Given the description of an element on the screen output the (x, y) to click on. 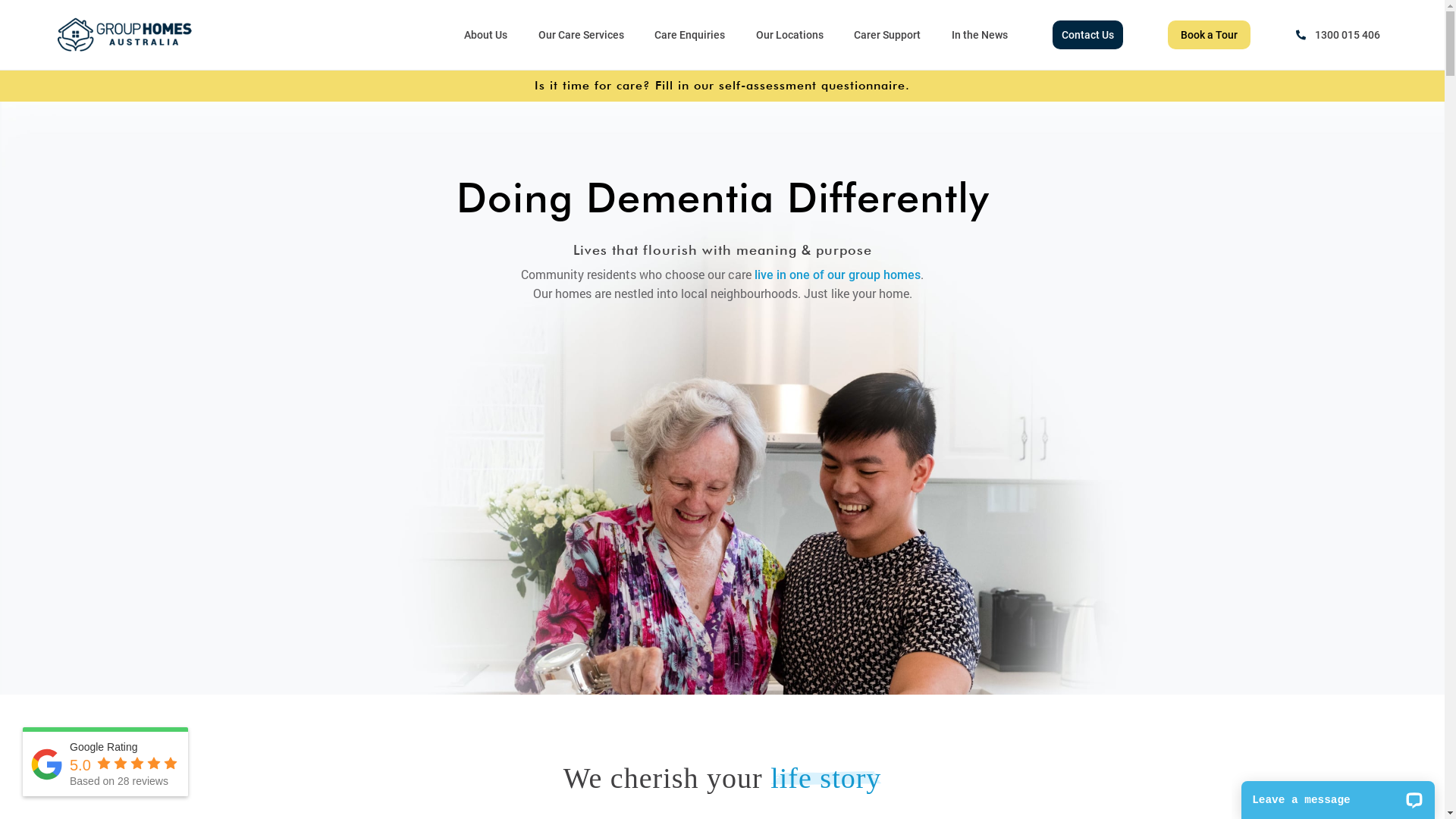
In the News Element type: text (979, 34)
live in Element type: text (770, 274)
Carer Support Element type: text (886, 34)
1300 015 406 Element type: text (1337, 34)
About Us Element type: text (485, 34)
Our Care Services Element type: text (581, 34)
Book a Tour Element type: text (1208, 34)
Our Locations Element type: text (789, 34)
one of our group homes Element type: text (854, 274)
Care Enquiries Element type: text (689, 34)
Contact Us Element type: text (1087, 34)
